Given the description of an element on the screen output the (x, y) to click on. 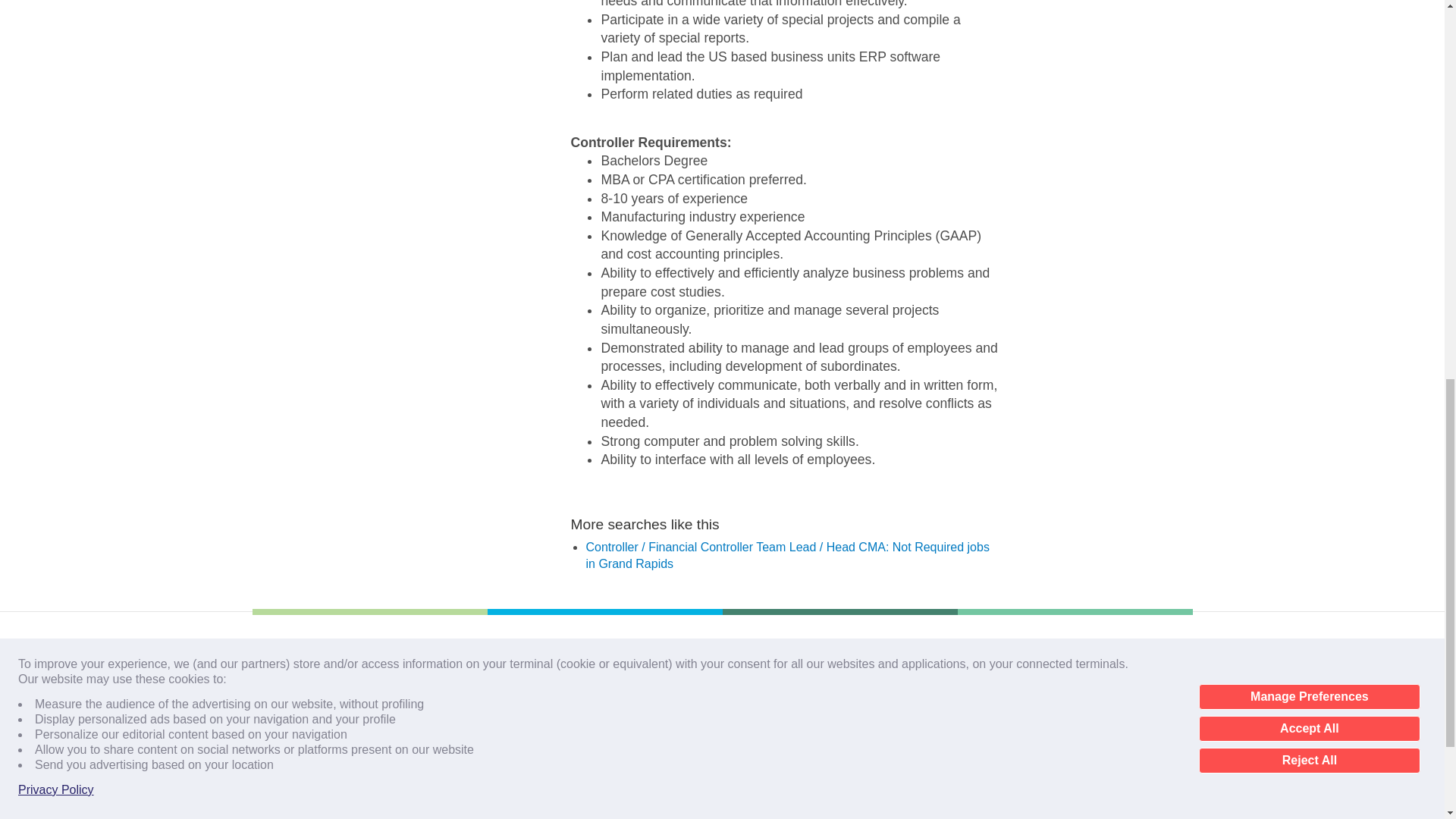
Search Employers (298, 739)
Job Alerts (276, 711)
Career Resources (297, 768)
Find A Job (277, 683)
